Given the description of an element on the screen output the (x, y) to click on. 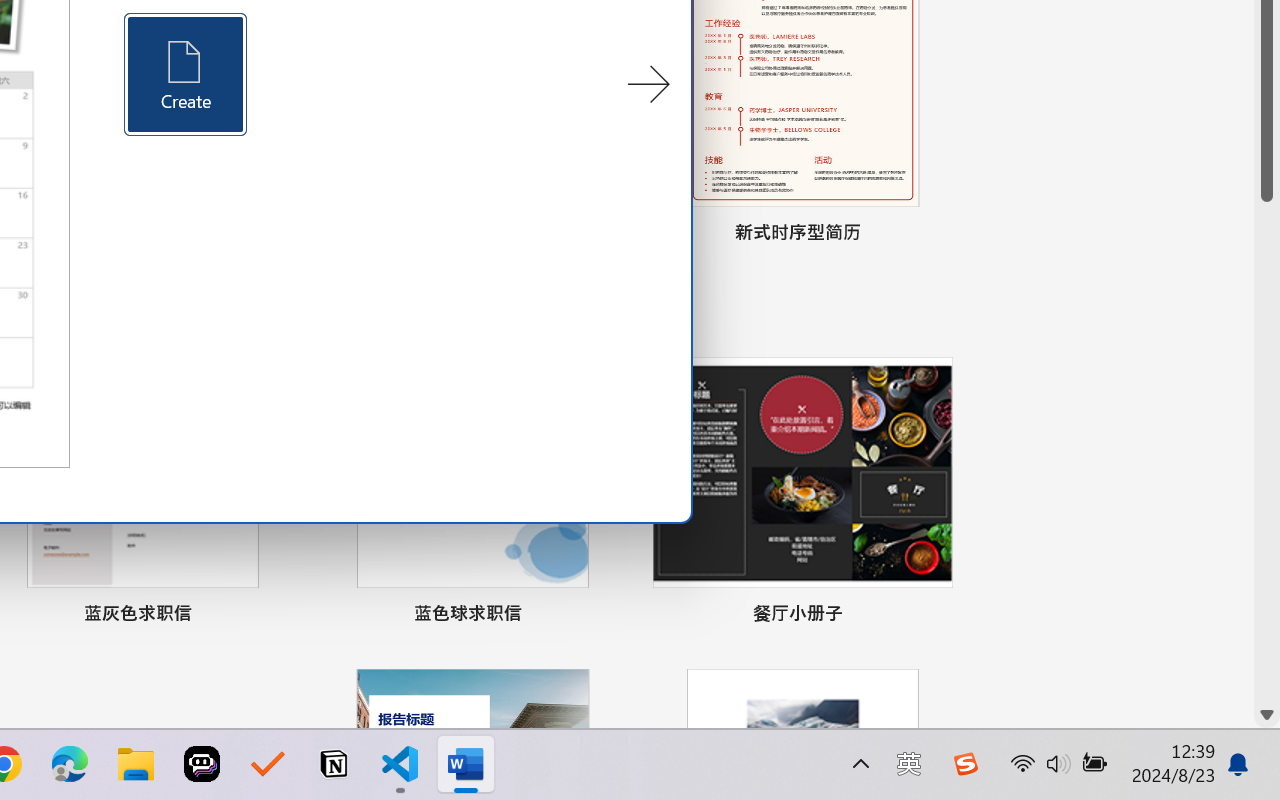
Line down (1267, 715)
Pin to list (934, 616)
Create (185, 74)
